Given the description of an element on the screen output the (x, y) to click on. 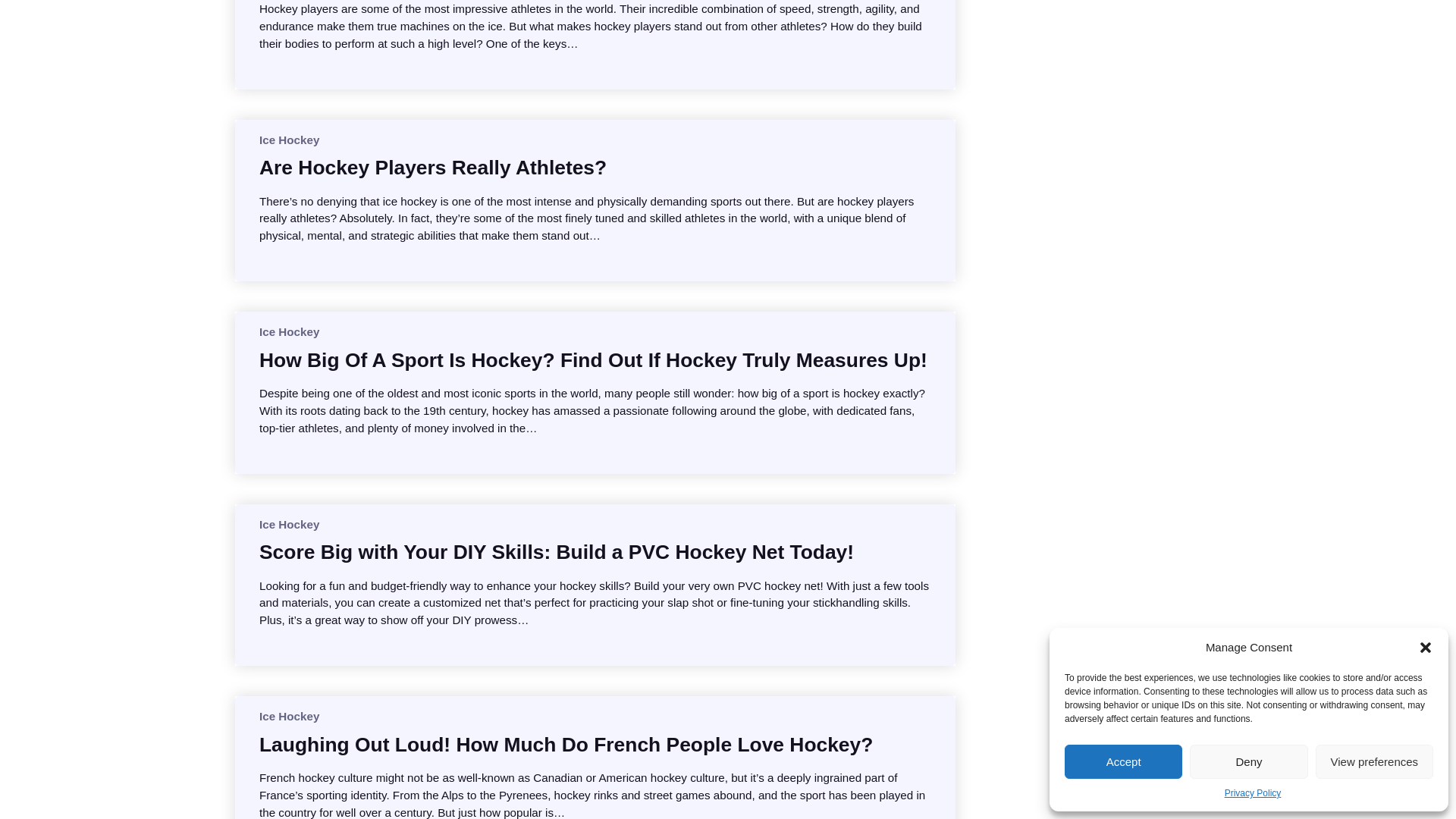
Ice Hockey (288, 523)
Ice Hockey (288, 716)
Are Hockey Players Really Athletes? (433, 167)
Ice Hockey (288, 139)
Ice Hockey (288, 331)
Laughing Out Loud! How Much Do French People Love Hockey? (565, 744)
